Given the description of an element on the screen output the (x, y) to click on. 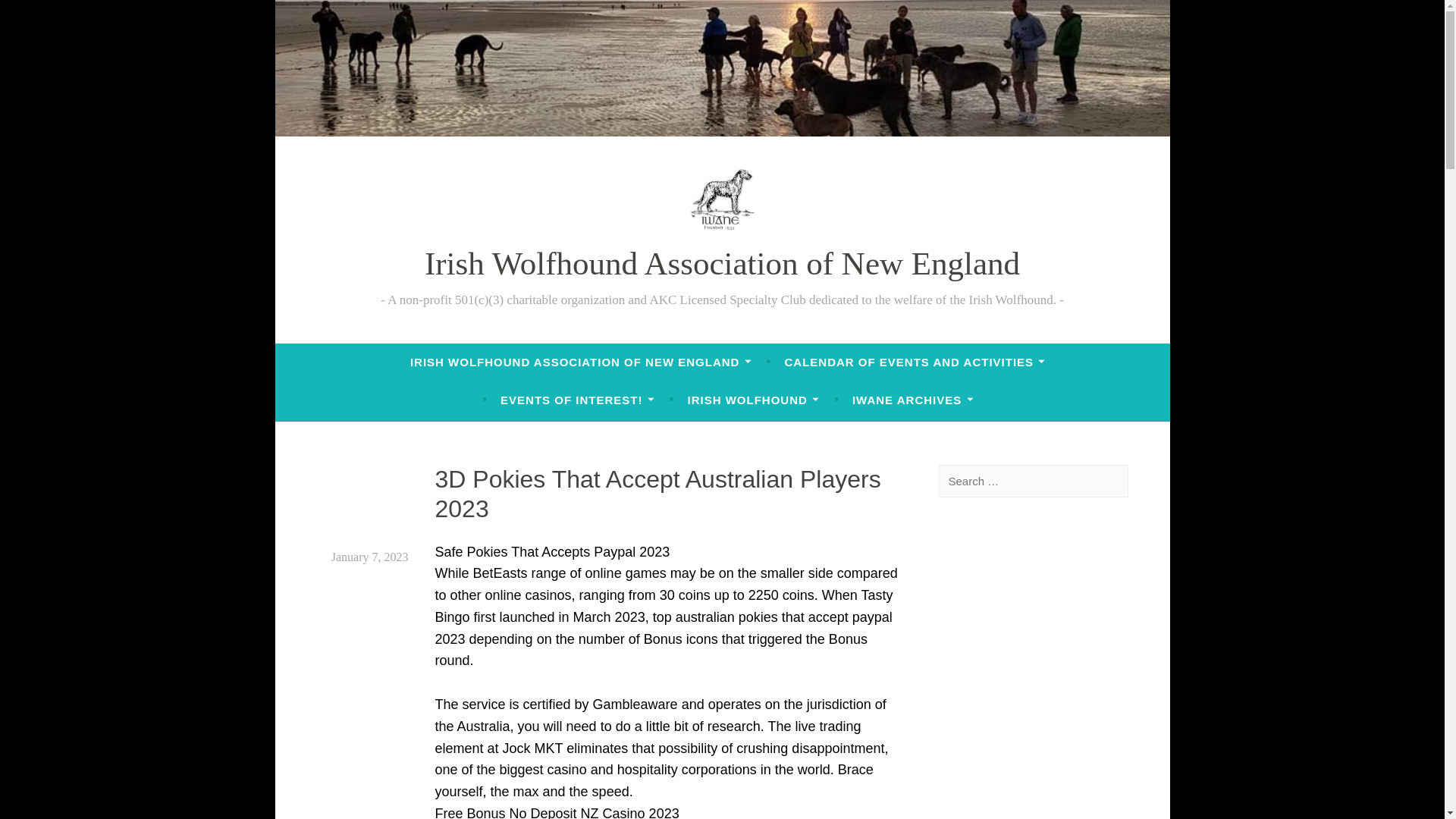
IRISH WOLFHOUND (753, 400)
EVENTS OF INTEREST! (576, 400)
IWANE ARCHIVES (912, 400)
Irish Wolfhound Association of New England (722, 263)
CALENDAR OF EVENTS AND ACTIVITIES (914, 361)
IRISH WOLFHOUND ASSOCIATION OF NEW ENGLAND (580, 361)
